Given the description of an element on the screen output the (x, y) to click on. 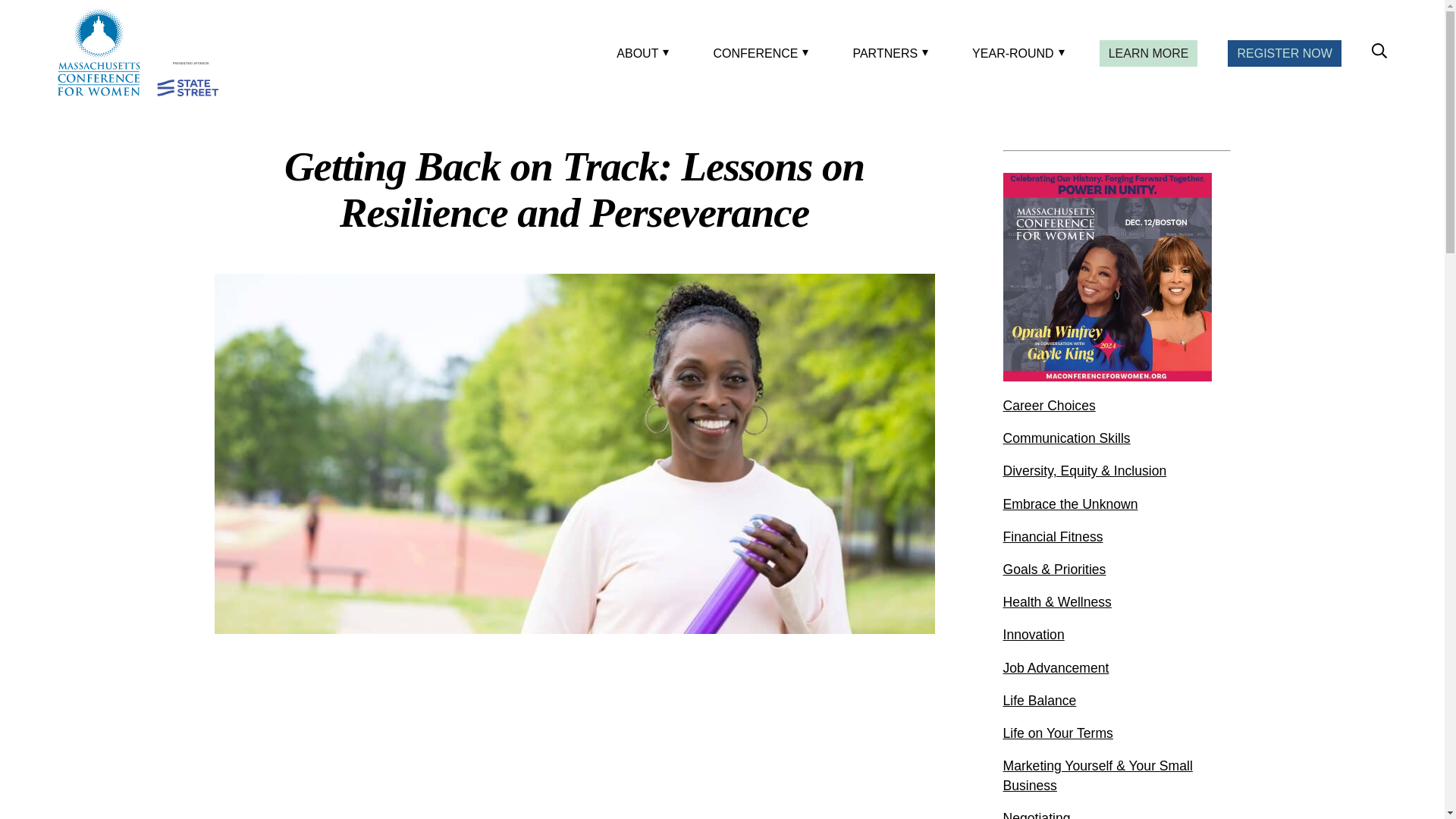
Blubrry Podcast Player (574, 744)
PARTNERS (888, 53)
CONFERENCE (757, 53)
LEARN MORE (1148, 53)
REGISTER NOW (1283, 53)
YEAR-ROUND (1015, 53)
ABOUT (639, 53)
